Given the description of an element on the screen output the (x, y) to click on. 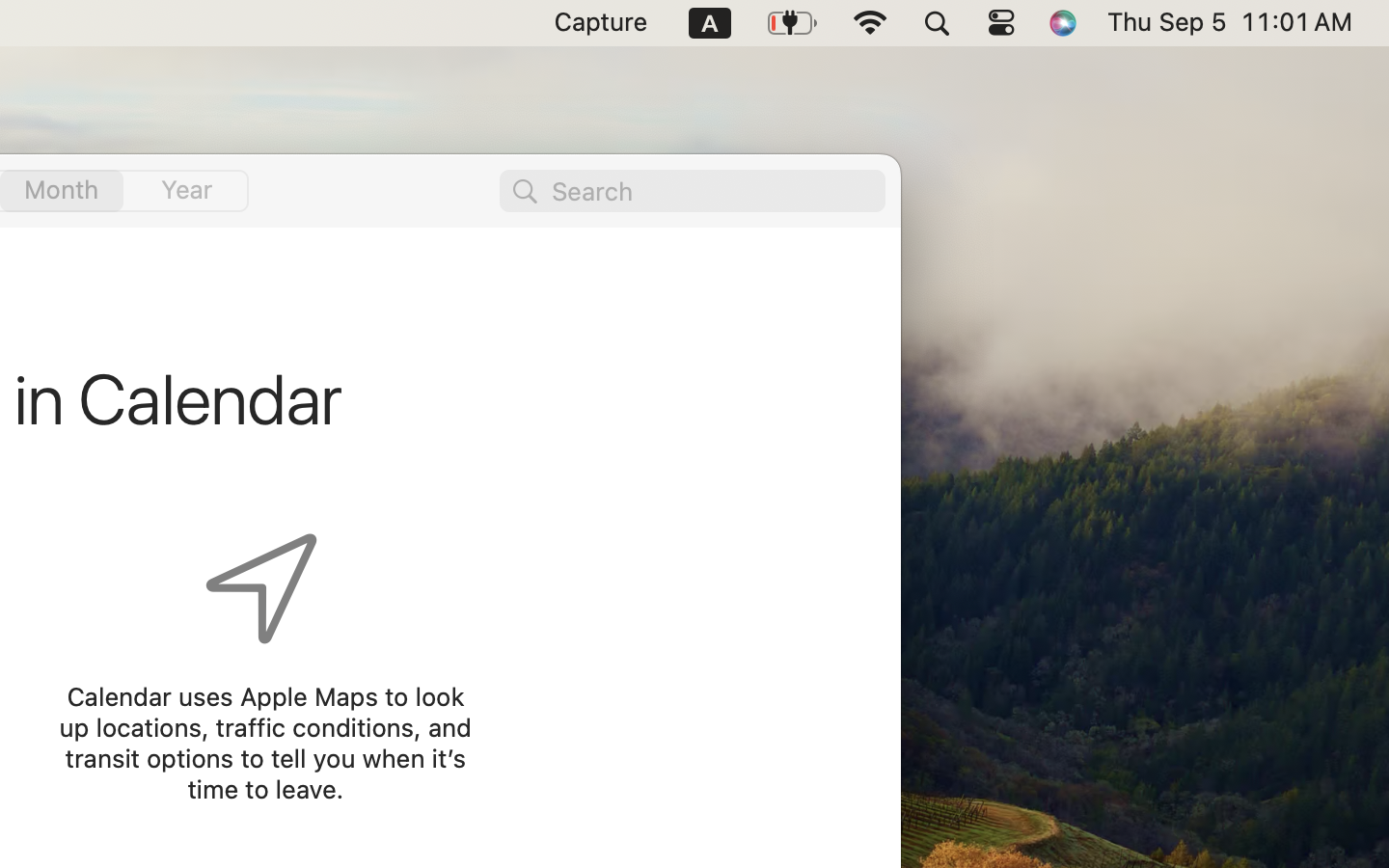
Calendar uses Apple Maps to look up locations, traffic conditions, and transit options to tell you when it’s time to leave. Element type: AXStaticText (265, 742)
